Given the description of an element on the screen output the (x, y) to click on. 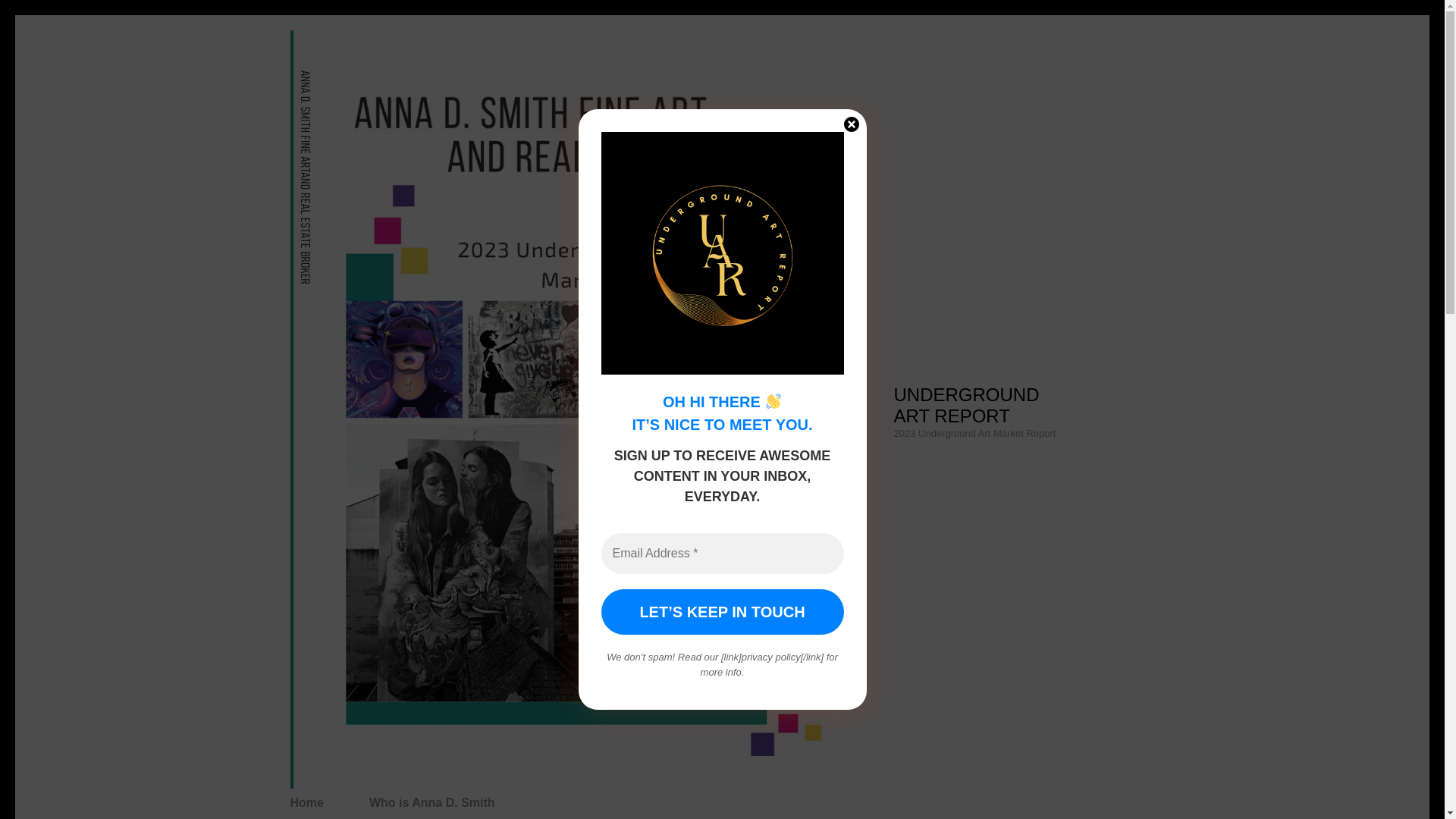
Home (306, 802)
Email Address (721, 553)
Who is Anna D. Smith (432, 802)
UNDERGROUND ART REPORT (966, 404)
